Given the description of an element on the screen output the (x, y) to click on. 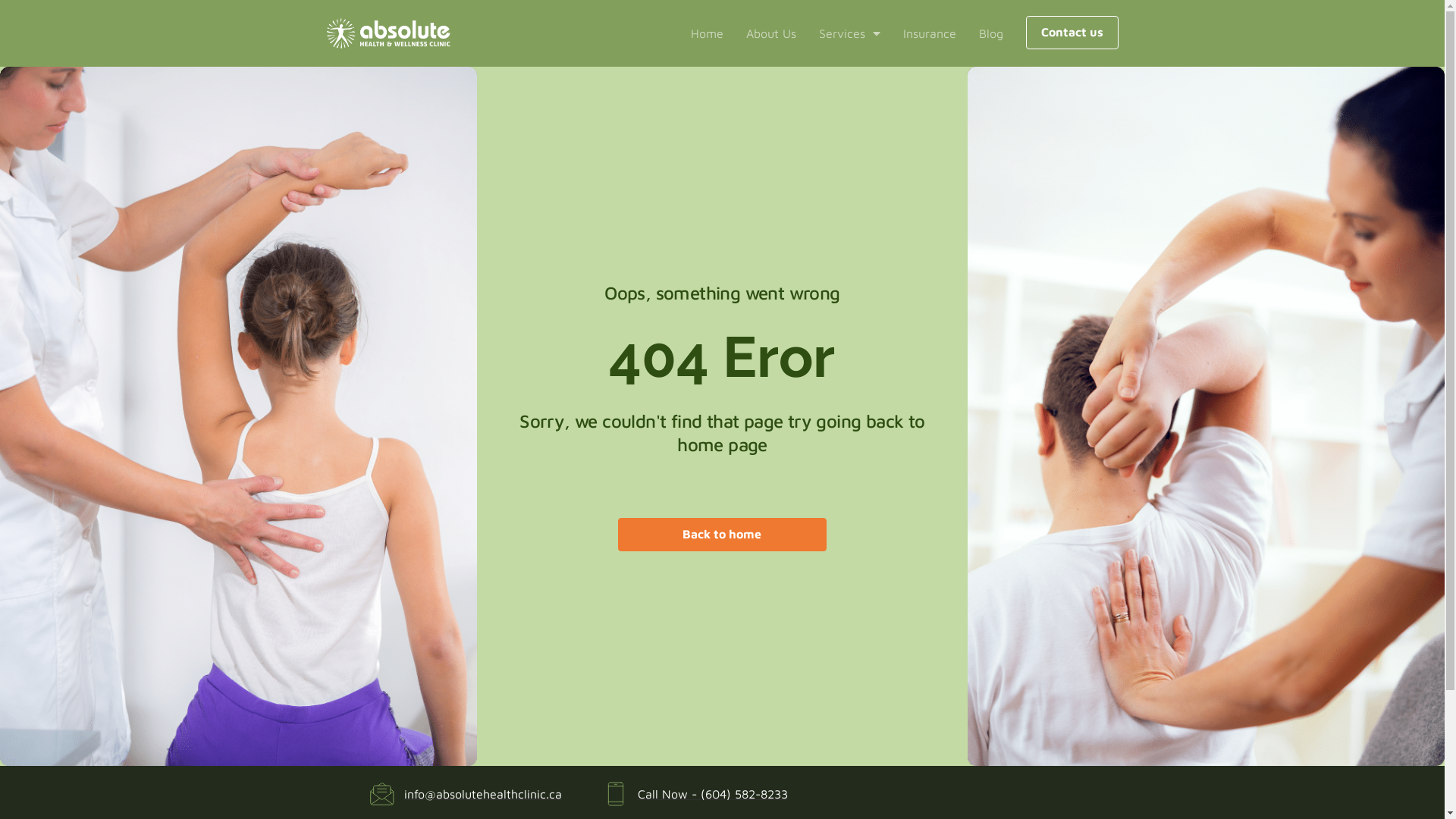
Home Element type: text (706, 33)
Back to home Element type: text (722, 534)
Blog Element type: text (990, 33)
Services Element type: text (849, 33)
Call Now - (604) 582-8233 Element type: text (695, 793)
Insurance Element type: text (928, 33)
info@absolutehealthclinic.ca Element type: text (465, 793)
About Us Element type: text (771, 33)
Contact us Element type: text (1071, 32)
